Given the description of an element on the screen output the (x, y) to click on. 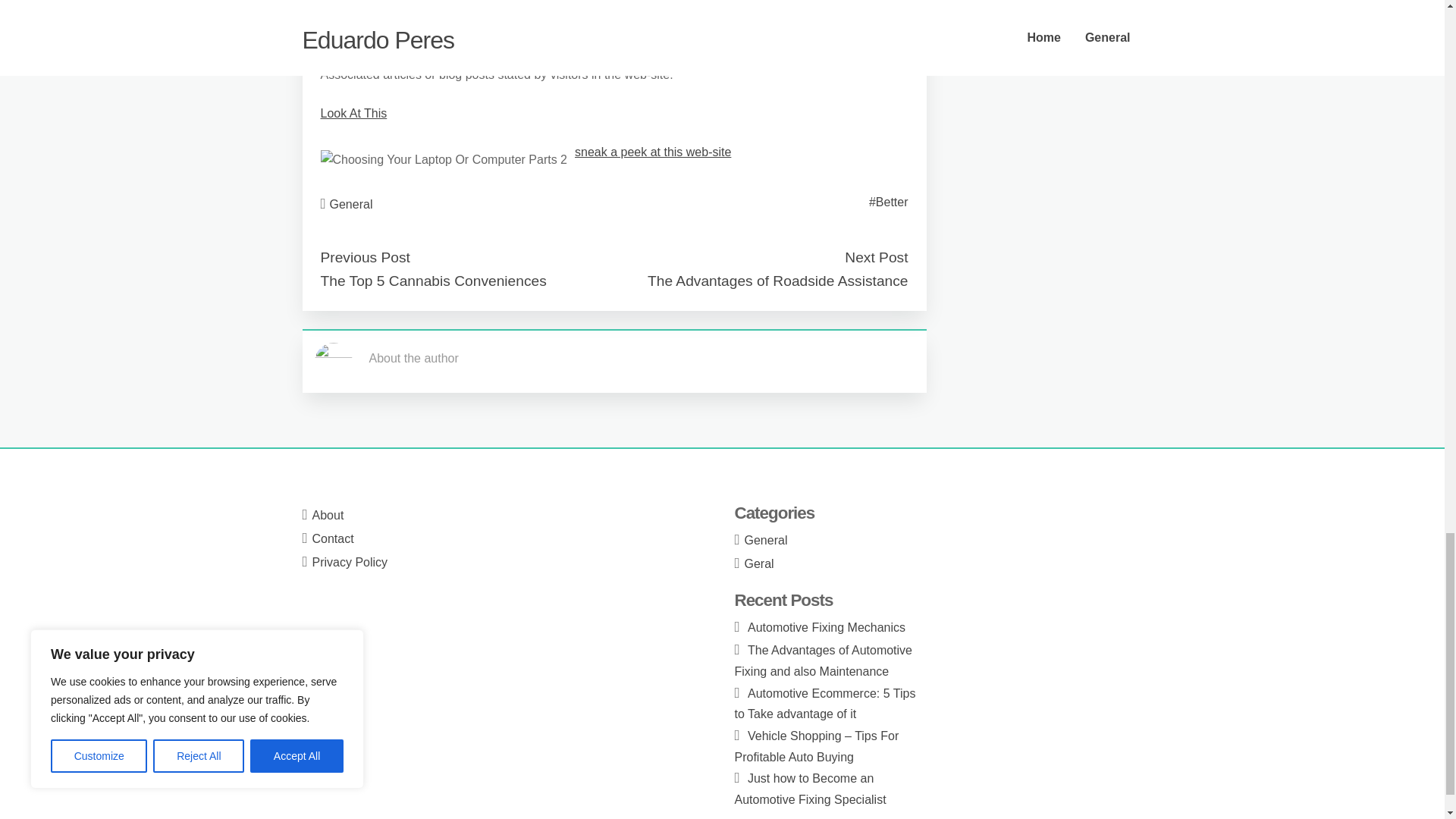
General (351, 204)
Previous Post (364, 257)
Look At This (353, 113)
just click the up coming post (598, 26)
The Advantages of Roadside Assistance (777, 280)
The Top 5 Cannabis Conveniences (433, 280)
Next Post (875, 257)
sneak a peek at this web-site (652, 151)
